Given the description of an element on the screen output the (x, y) to click on. 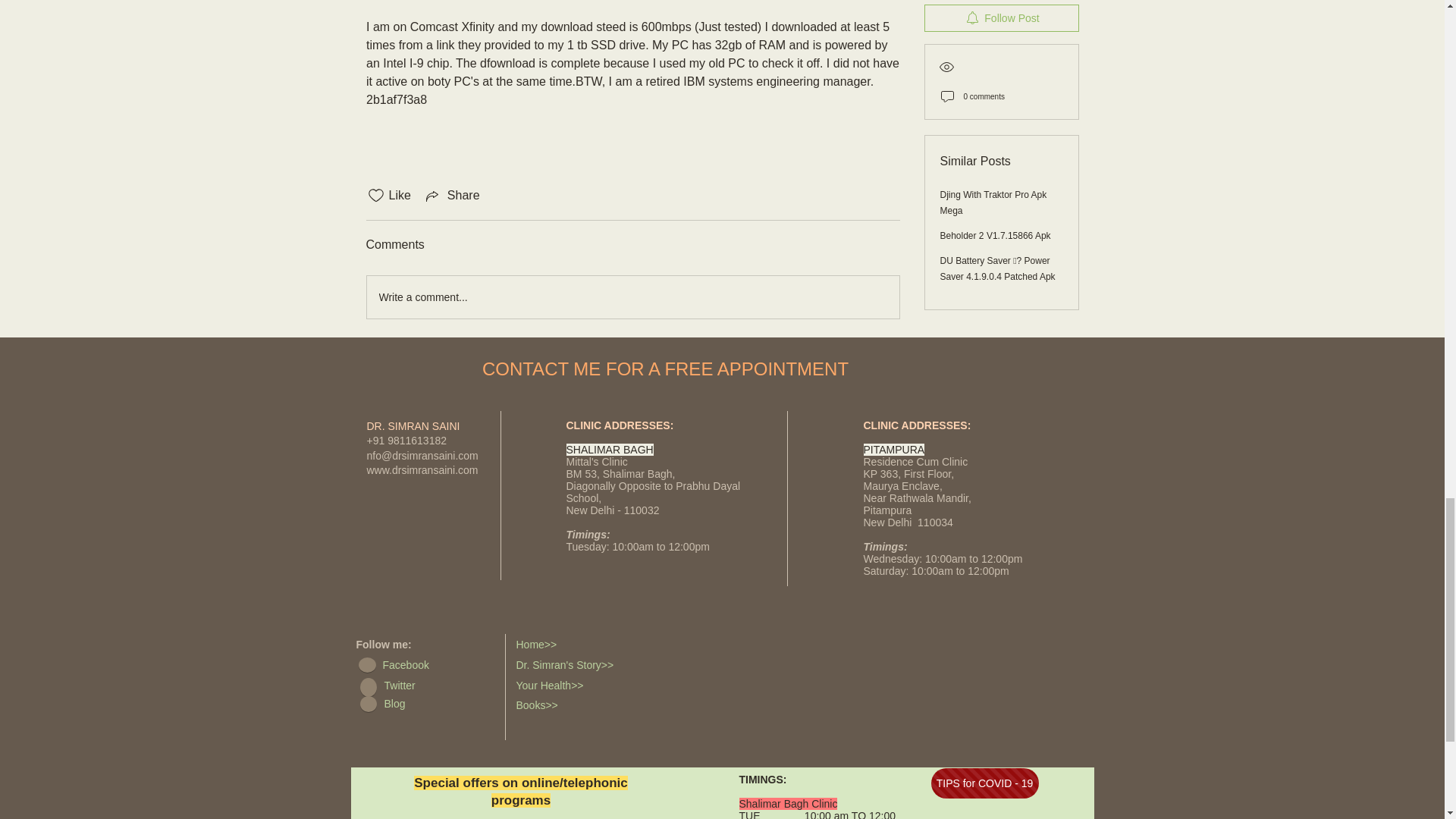
Share (451, 195)
www.drsimransaini.com (422, 469)
Twitter (426, 686)
Facebook (424, 666)
TIPS for COVID - 19 (985, 783)
Write a comment... (632, 297)
